Given the description of an element on the screen output the (x, y) to click on. 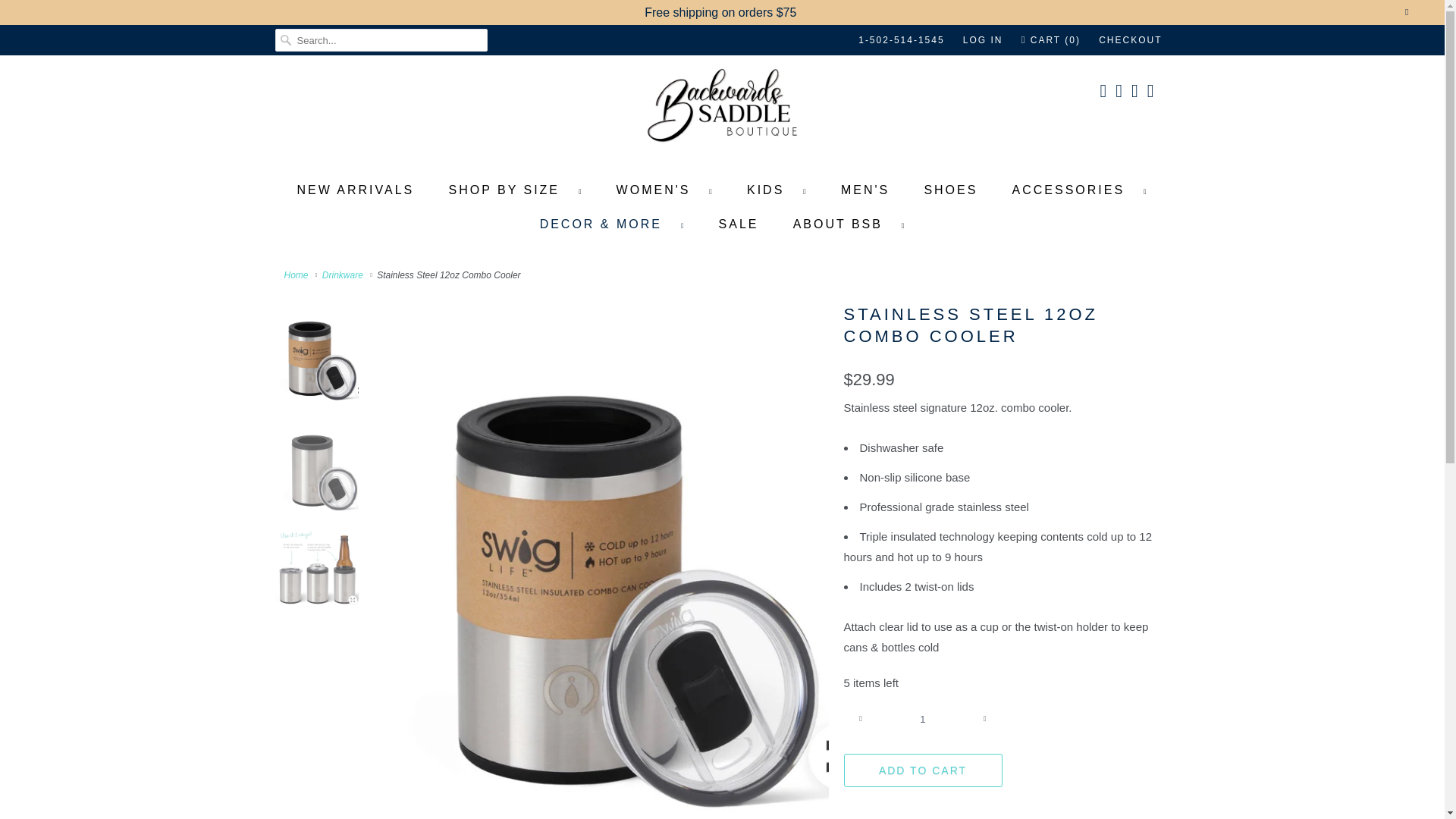
1-502-514-1545 (901, 39)
LOG IN (982, 39)
Drinkware (343, 275)
CHECKOUT (1130, 39)
1 (922, 718)
Backwards Saddle Boutique (296, 275)
Backwards Saddle Boutique (721, 111)
